Given the description of an element on the screen output the (x, y) to click on. 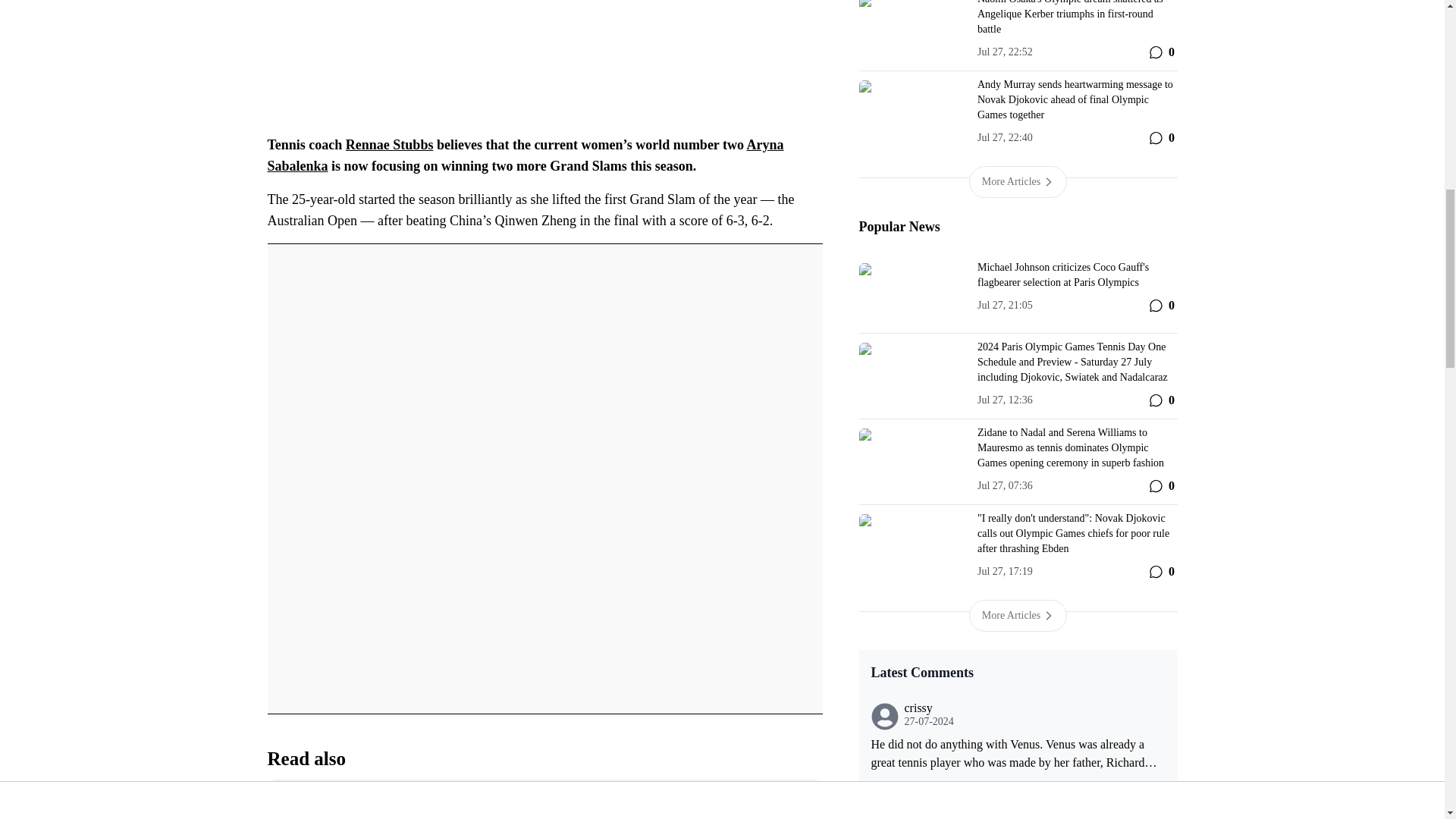
Aryna Sabalenka (524, 155)
Rennae Stubbs (389, 144)
Rennae Stubbs (389, 144)
Aryna Sabalenka (524, 155)
